Given the description of an element on the screen output the (x, y) to click on. 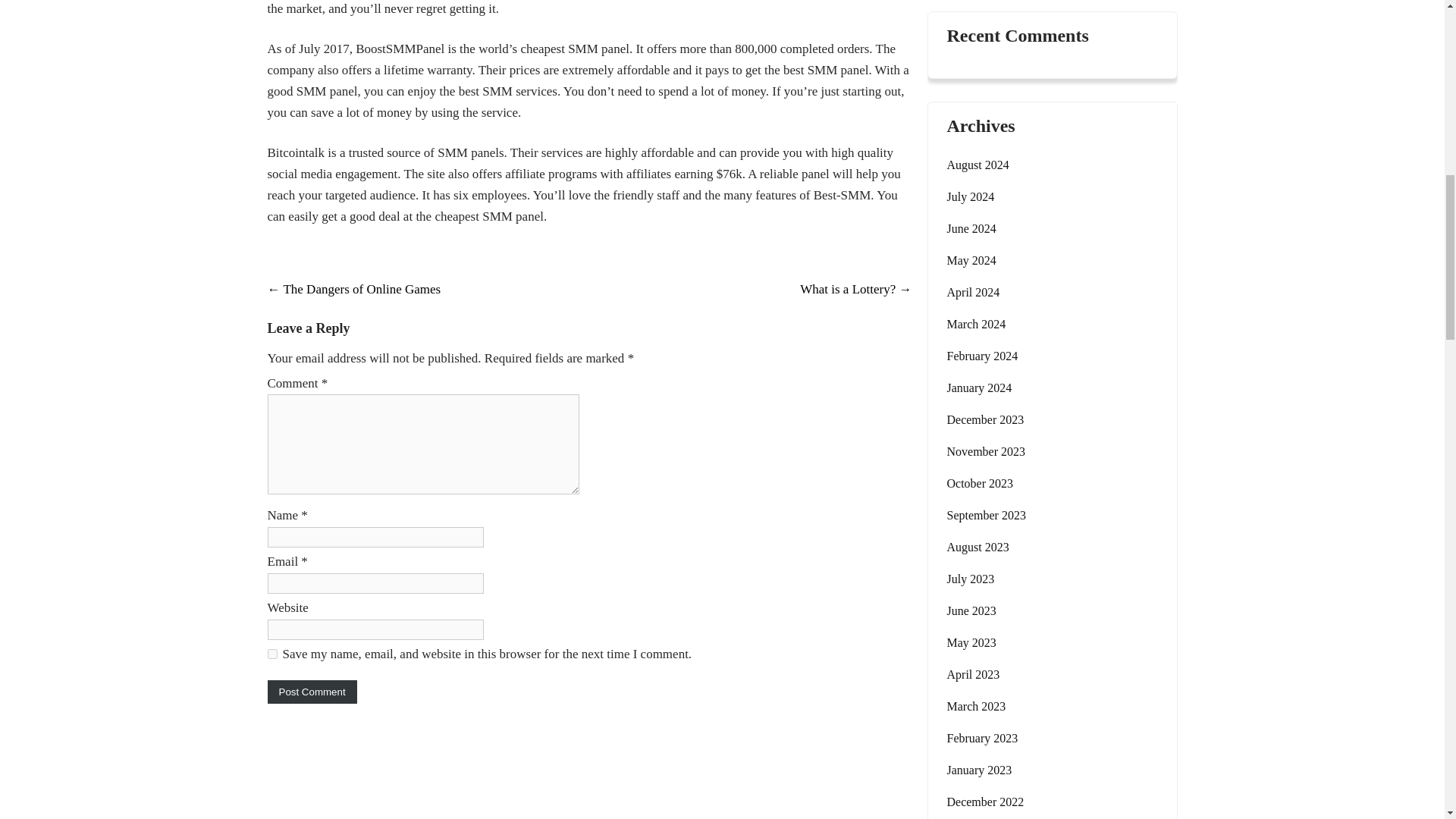
January 2023 (978, 770)
February 2023 (981, 738)
December 2022 (984, 802)
December 2023 (984, 419)
Post Comment (311, 691)
March 2023 (976, 706)
November 2023 (985, 451)
Post Comment (311, 691)
February 2024 (981, 356)
July 2024 (970, 197)
